Given the description of an element on the screen output the (x, y) to click on. 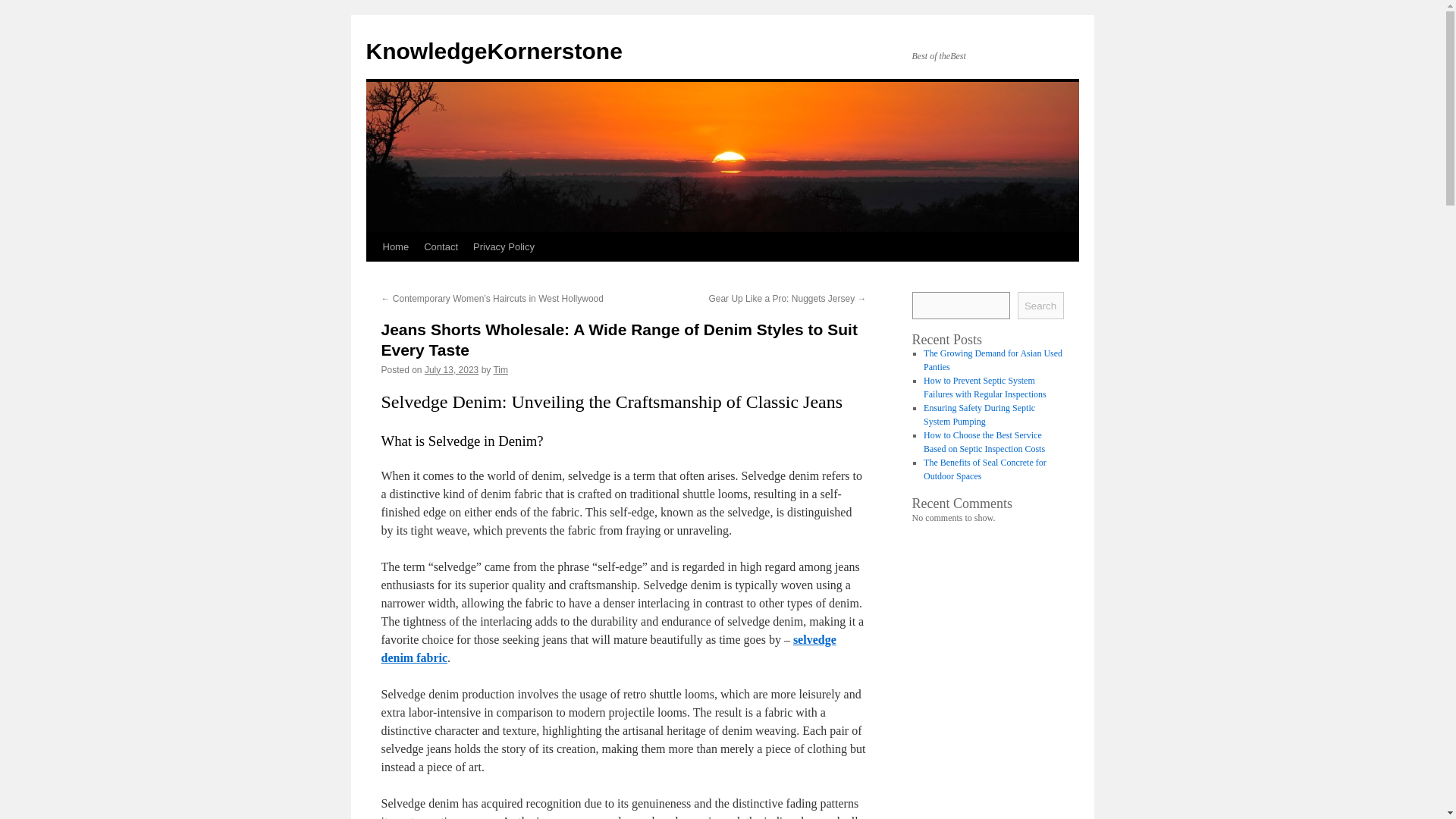
11:48 pm (452, 369)
Tim (500, 369)
Search (1040, 305)
selvedge denim fabric (607, 648)
Contact (440, 246)
View all posts by Tim (500, 369)
KnowledgeKornerstone (493, 50)
Privacy Policy (503, 246)
July 13, 2023 (452, 369)
Skip to content (372, 274)
Home (395, 246)
The Growing Demand for Asian Used Panties (992, 360)
Ensuring Safety During Septic System Pumping (979, 414)
